Given the description of an element on the screen output the (x, y) to click on. 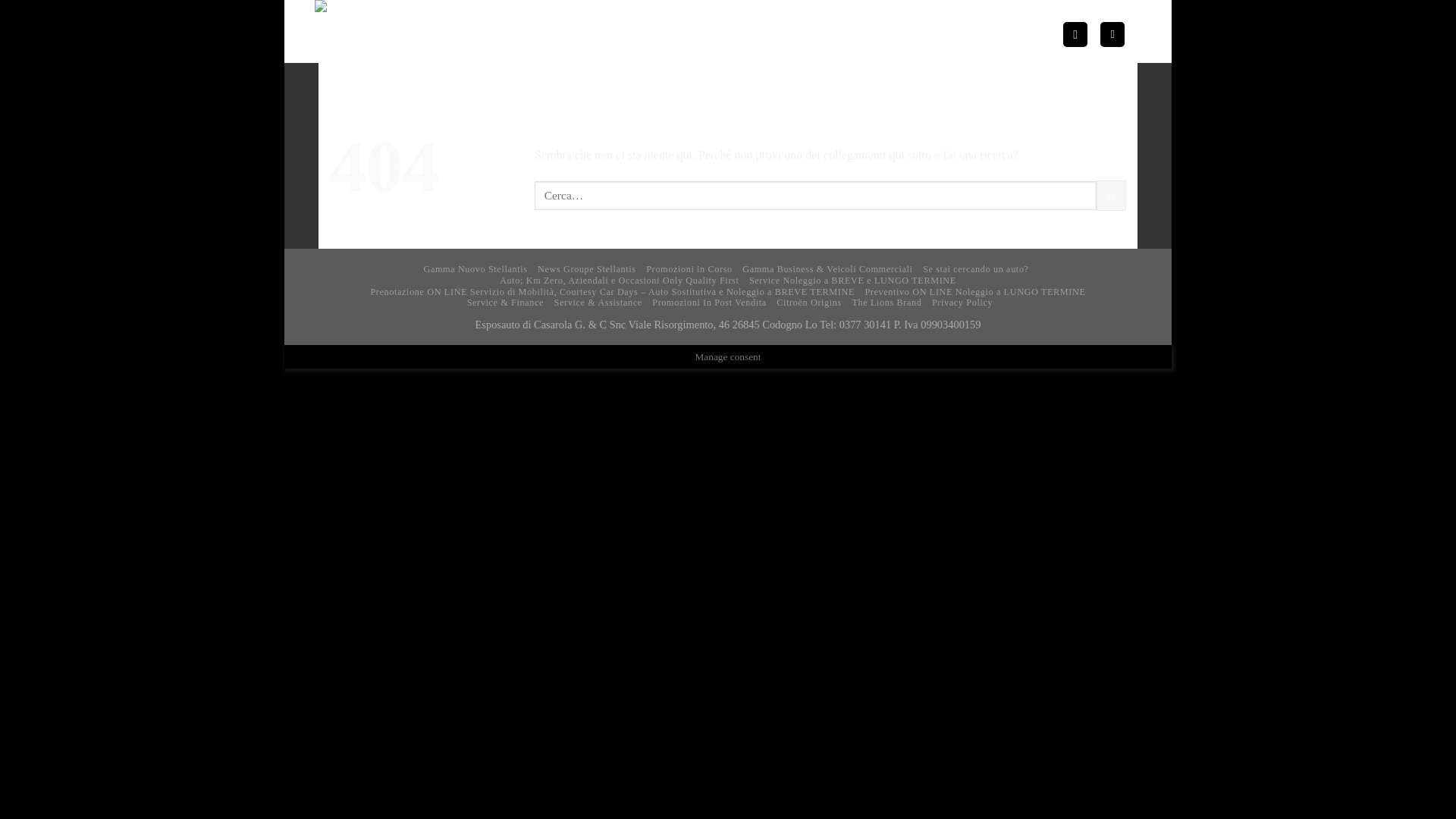
Esposauto (465, 31)
Auto; Km Zero, Aziendali e Occasioni Only Quality First (618, 280)
Promozioni in Corso (689, 268)
Latest news from PSA Group (586, 268)
News Groupe Stellantis (586, 268)
Promozioni In Post Vendita (709, 302)
Gamma Nuovo Stellantis (475, 268)
